Given the description of an element on the screen output the (x, y) to click on. 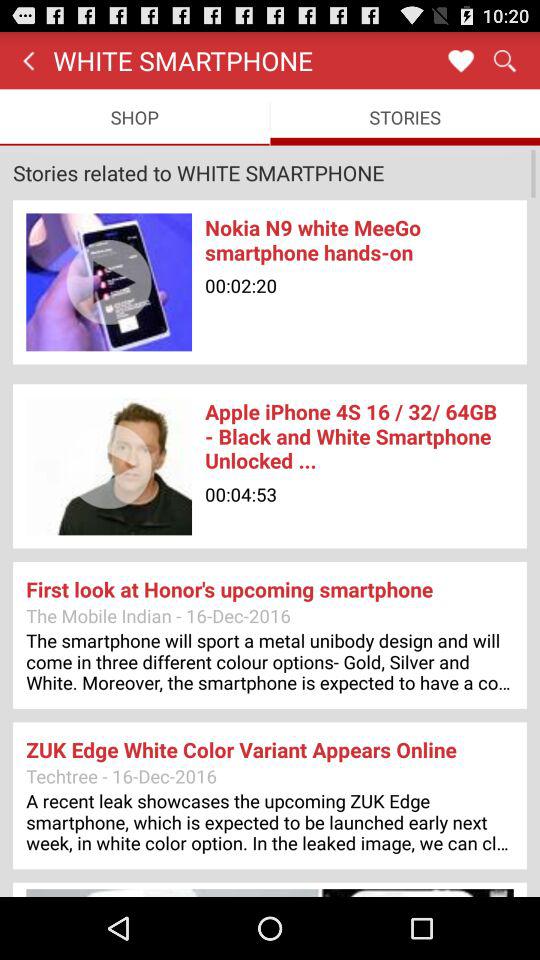
turn off item above the stories item (504, 60)
